Given the description of an element on the screen output the (x, y) to click on. 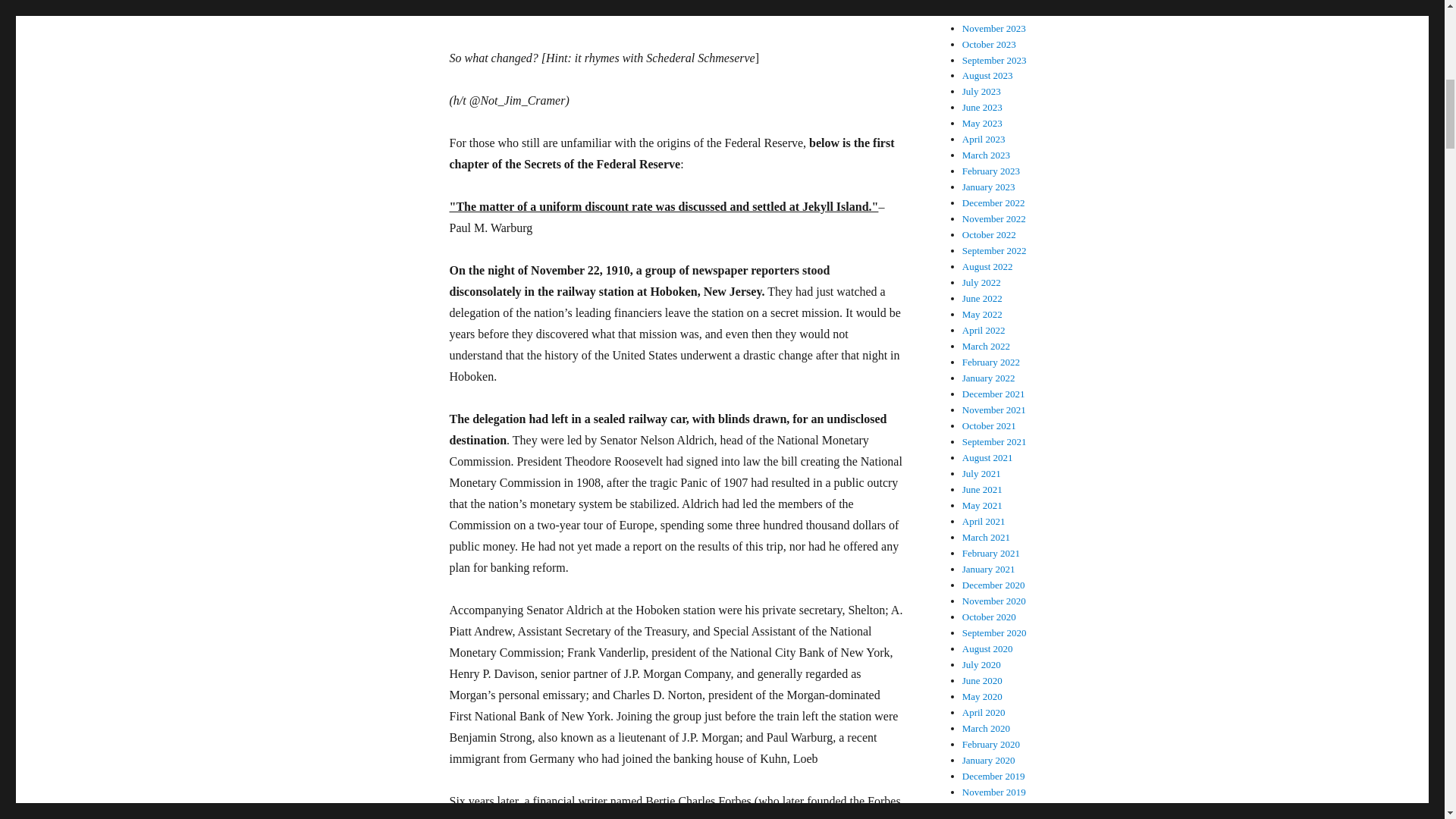
October 2023 (989, 43)
December 2023 (993, 12)
January 2024 (988, 1)
November 2023 (994, 28)
